Given the description of an element on the screen output the (x, y) to click on. 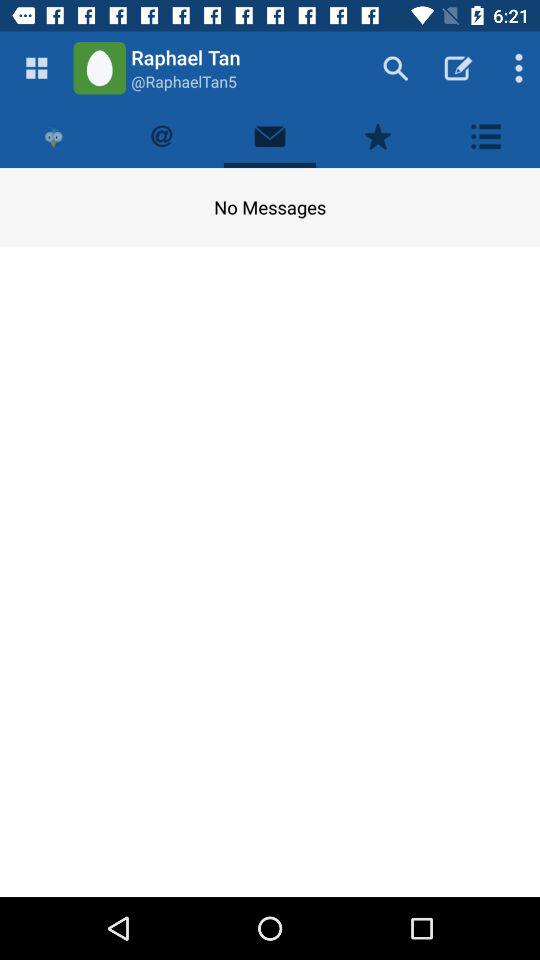
inbox of mail (270, 136)
